Given the description of an element on the screen output the (x, y) to click on. 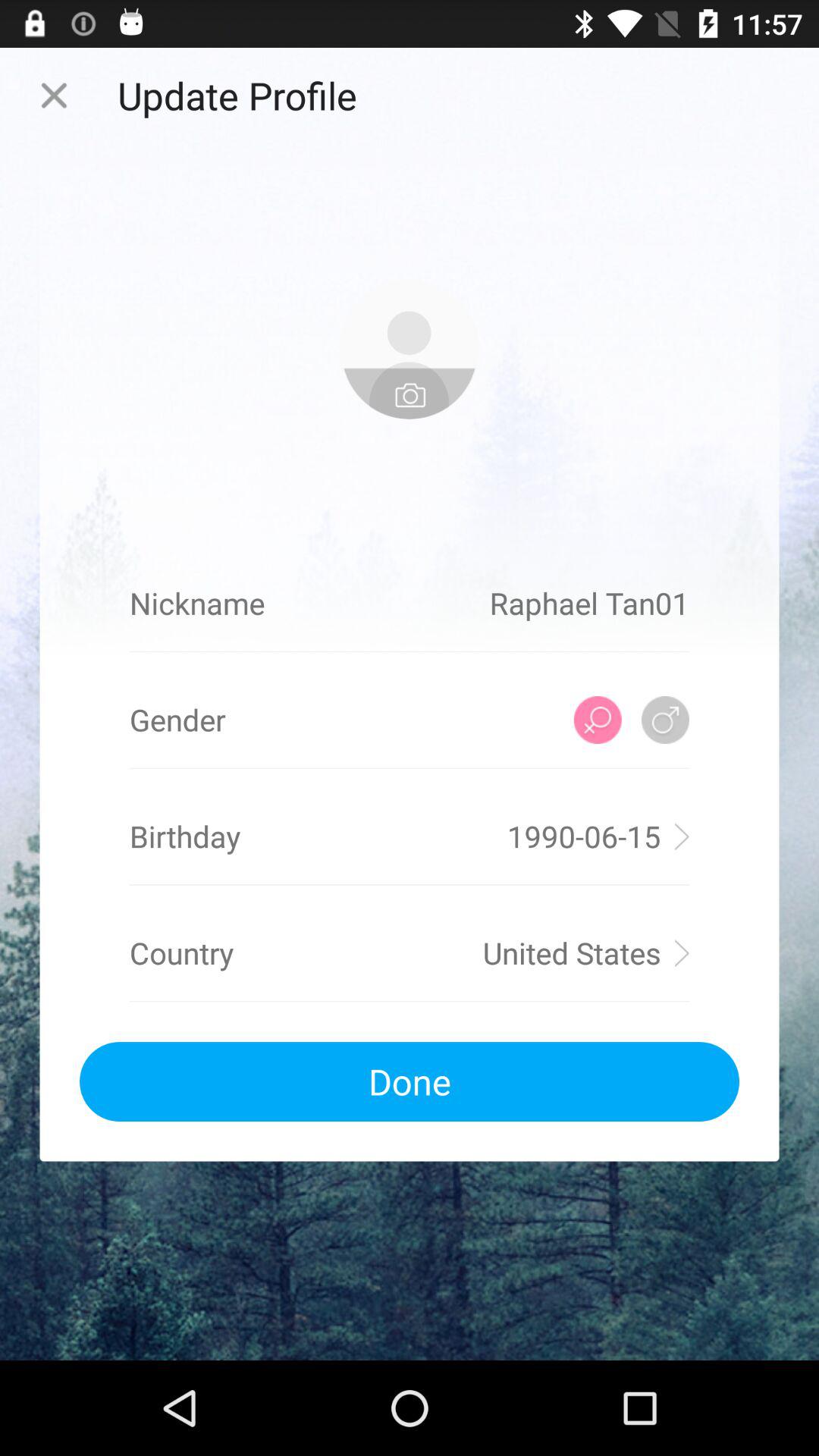
close window (53, 95)
